Given the description of an element on the screen output the (x, y) to click on. 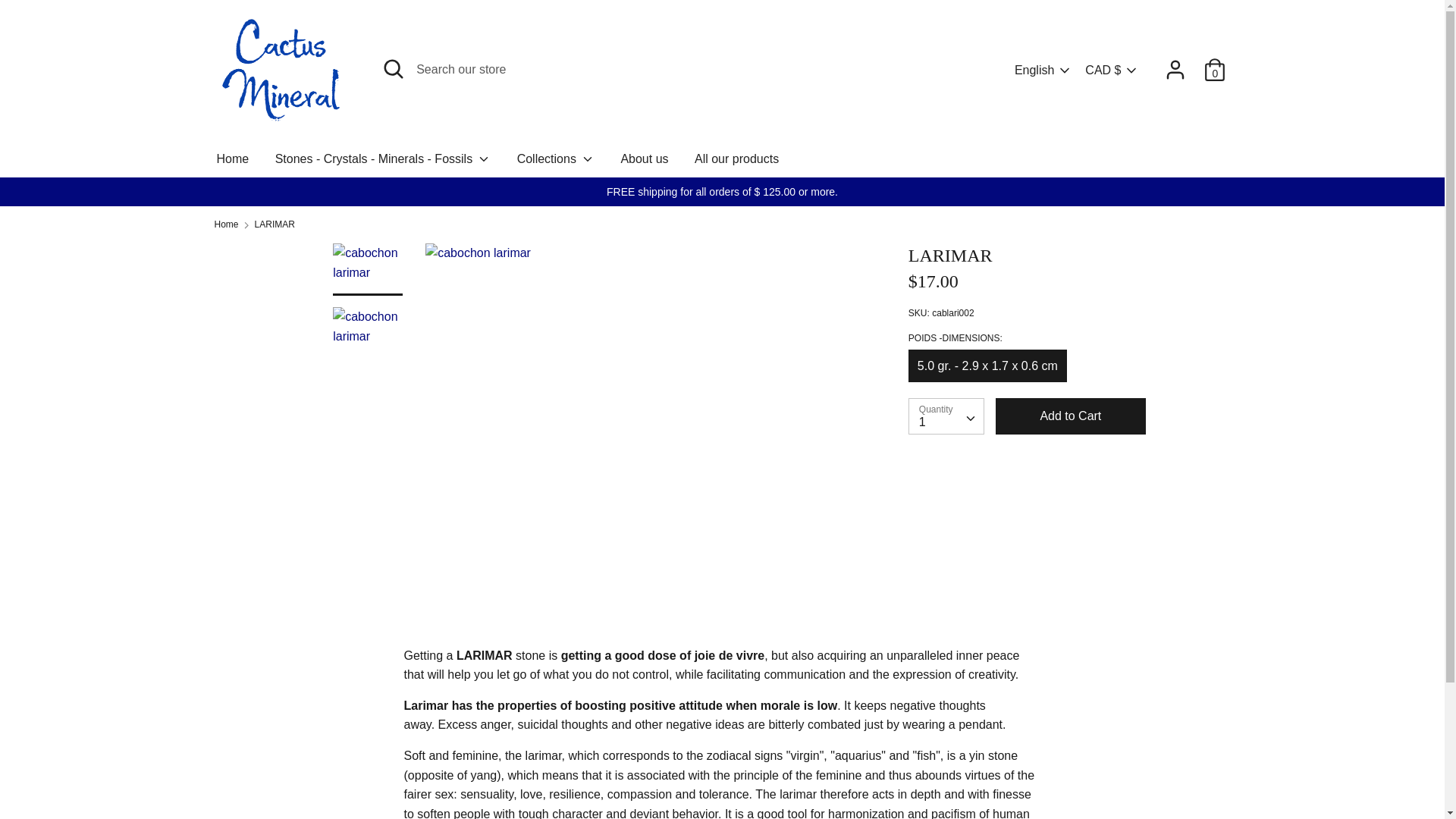
PayPal (1146, 769)
English (1042, 70)
0 (1214, 63)
Shop Pay (1180, 769)
1 (946, 415)
Diners Club (1044, 769)
Discover (1079, 769)
Mastercard (1112, 769)
Visa (1213, 769)
American Express (1011, 769)
